Given the description of an element on the screen output the (x, y) to click on. 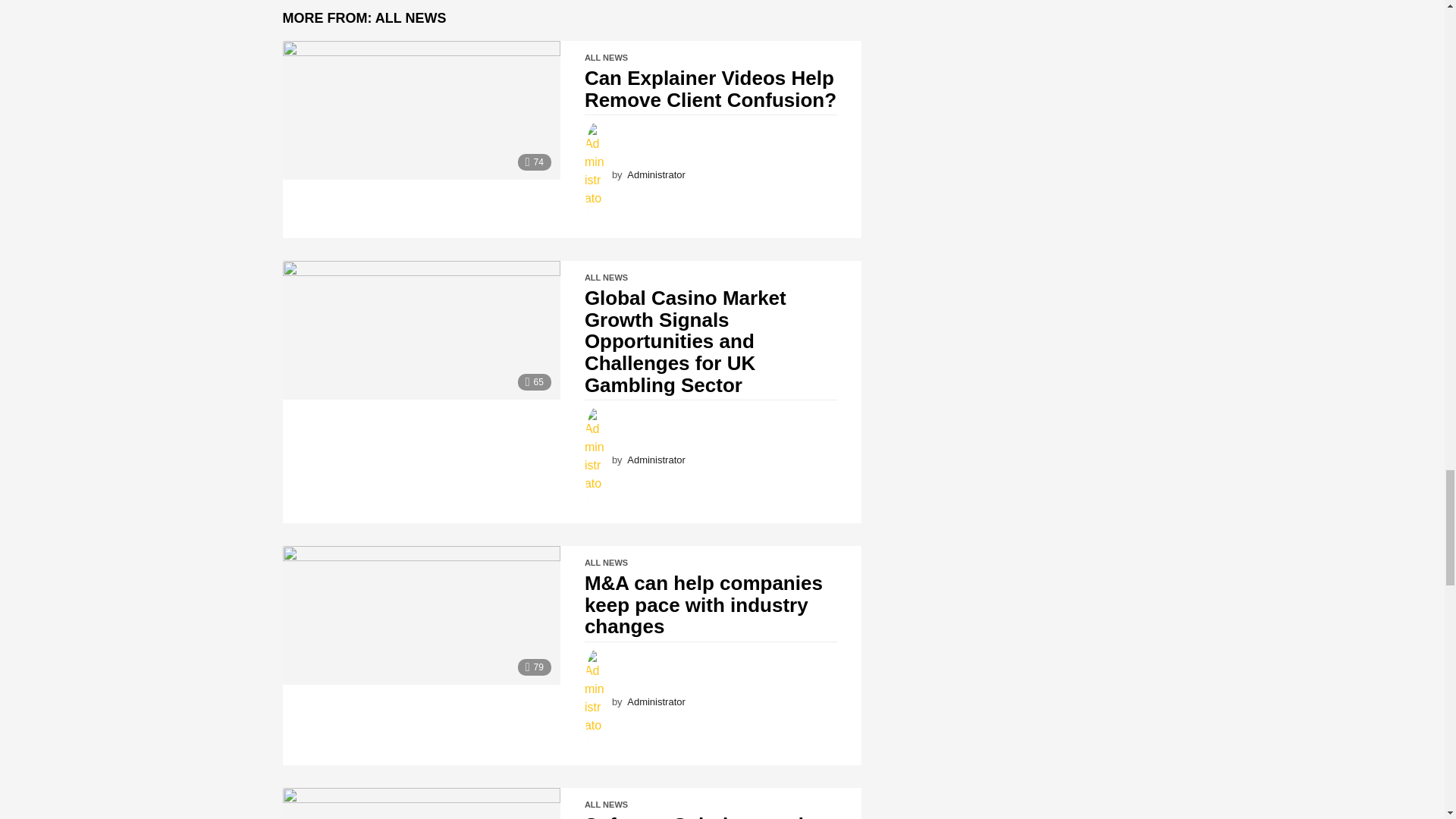
Software Solutions and Best Practices (420, 803)
Can Explainer Videos Help Remove Client Confusion? (420, 109)
